Given the description of an element on the screen output the (x, y) to click on. 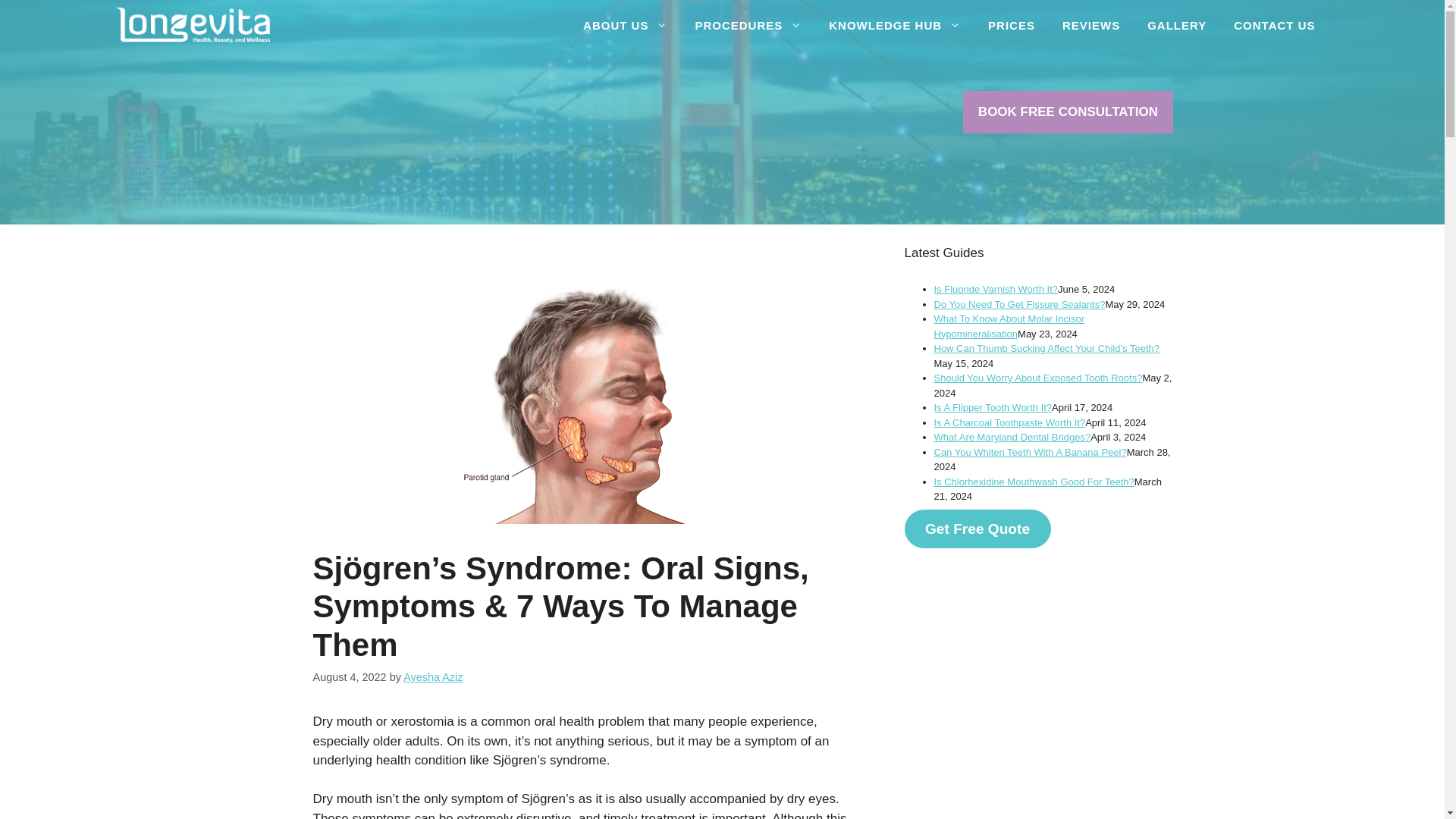
PRICES (1011, 25)
REVIEWS (1091, 25)
BOOK FREE CONSULTATION (1067, 111)
View all posts by Ayesha Aziz (433, 676)
Ayesha Aziz (433, 676)
PROCEDURES (748, 25)
CONTACT US (1273, 25)
Longevita Dental (192, 25)
ABOUT US (625, 25)
GALLERY (1177, 25)
KNOWLEDGE HUB (894, 25)
